Given the description of an element on the screen output the (x, y) to click on. 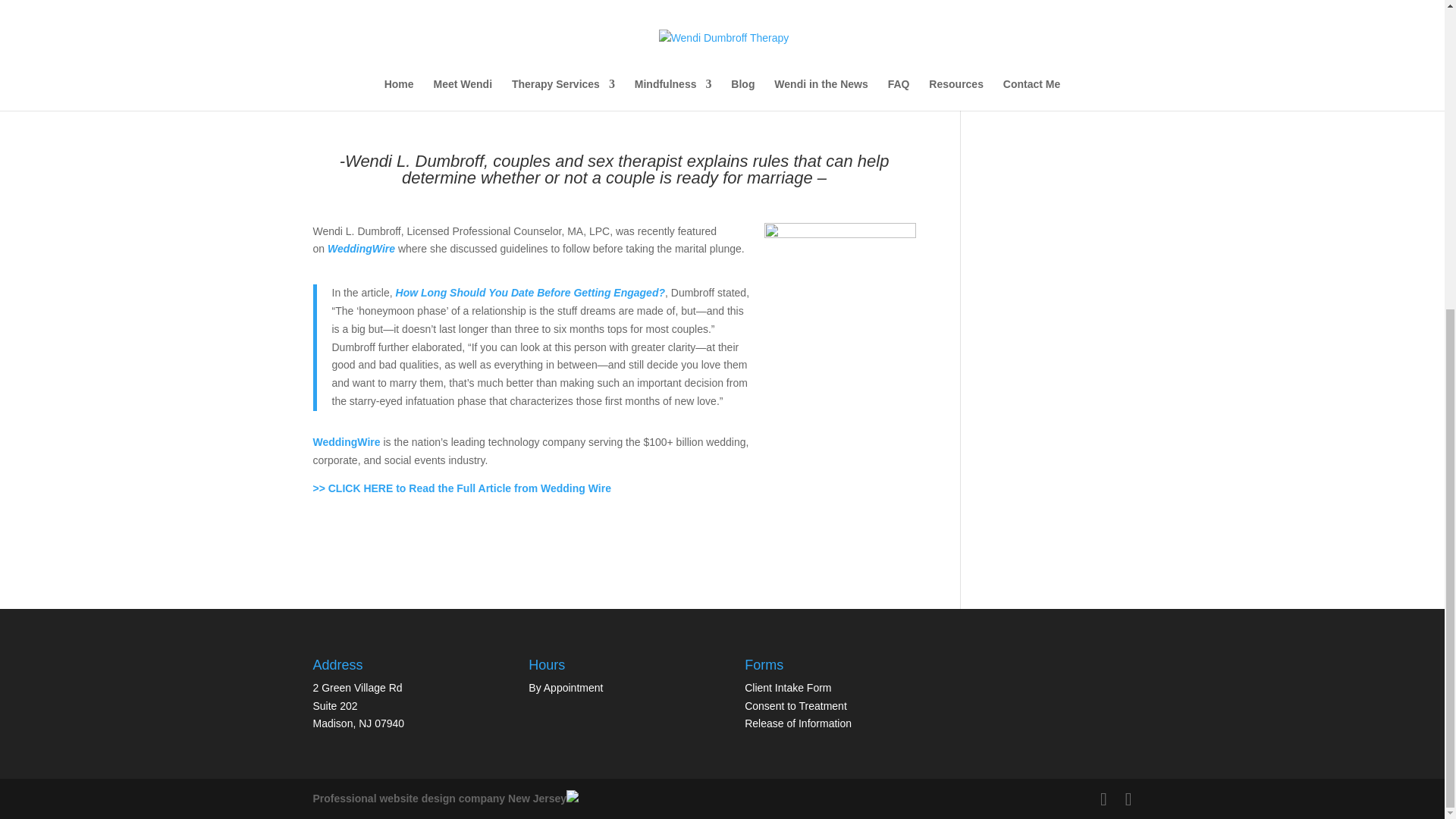
WeddingWire  (362, 248)
Consent to Treatment (795, 705)
Release of Information (797, 723)
WeddingWire (346, 441)
How Long Should You Date Before Getting Engaged? (530, 292)
Client Intake Form (787, 687)
By Appointment (565, 687)
